Given the description of an element on the screen output the (x, y) to click on. 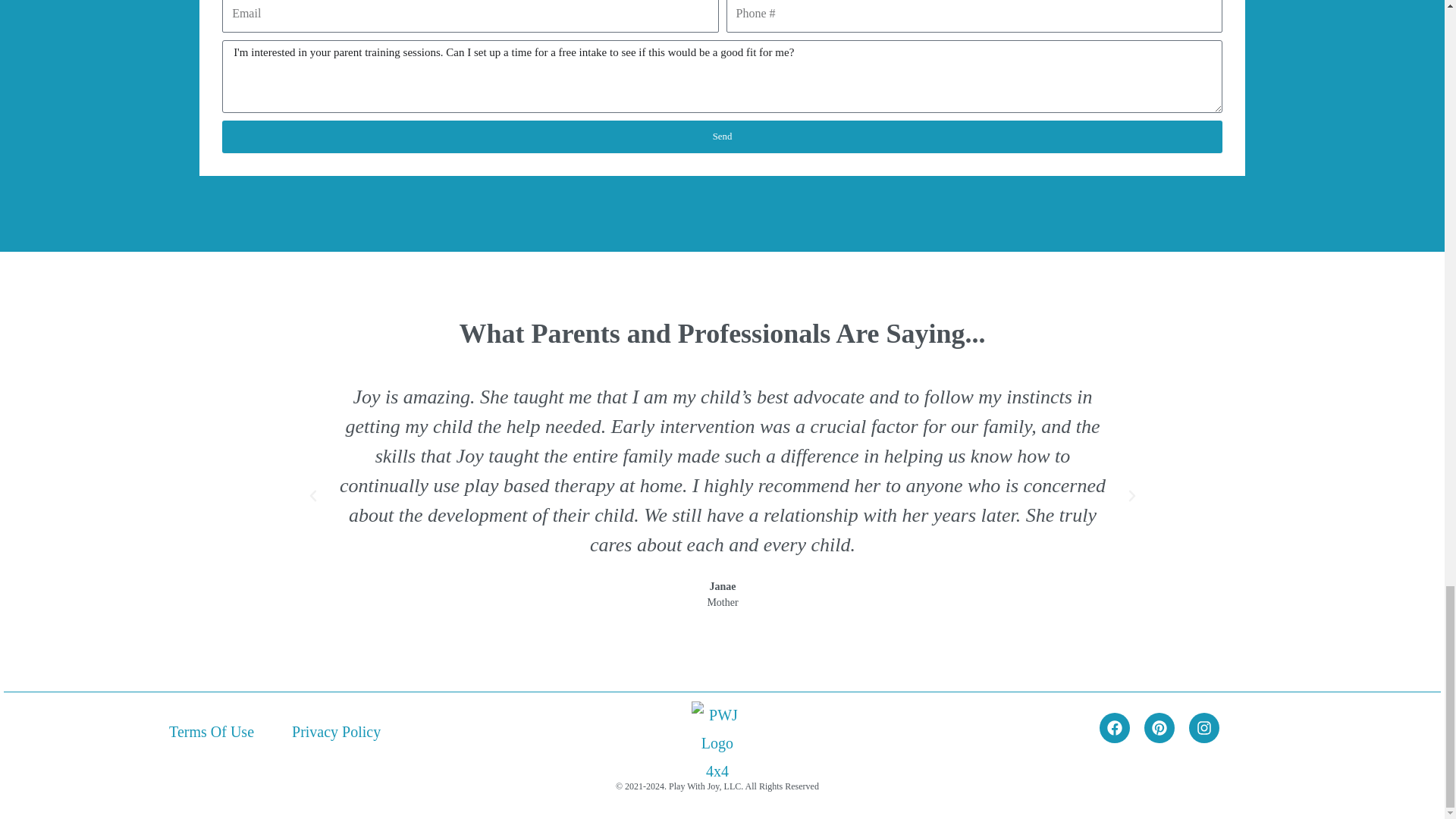
Terms Of Use (210, 731)
Privacy Policy (336, 731)
Send (722, 136)
Pinterest (1159, 727)
Facebook (1114, 727)
Instagram (1204, 727)
